Given the description of an element on the screen output the (x, y) to click on. 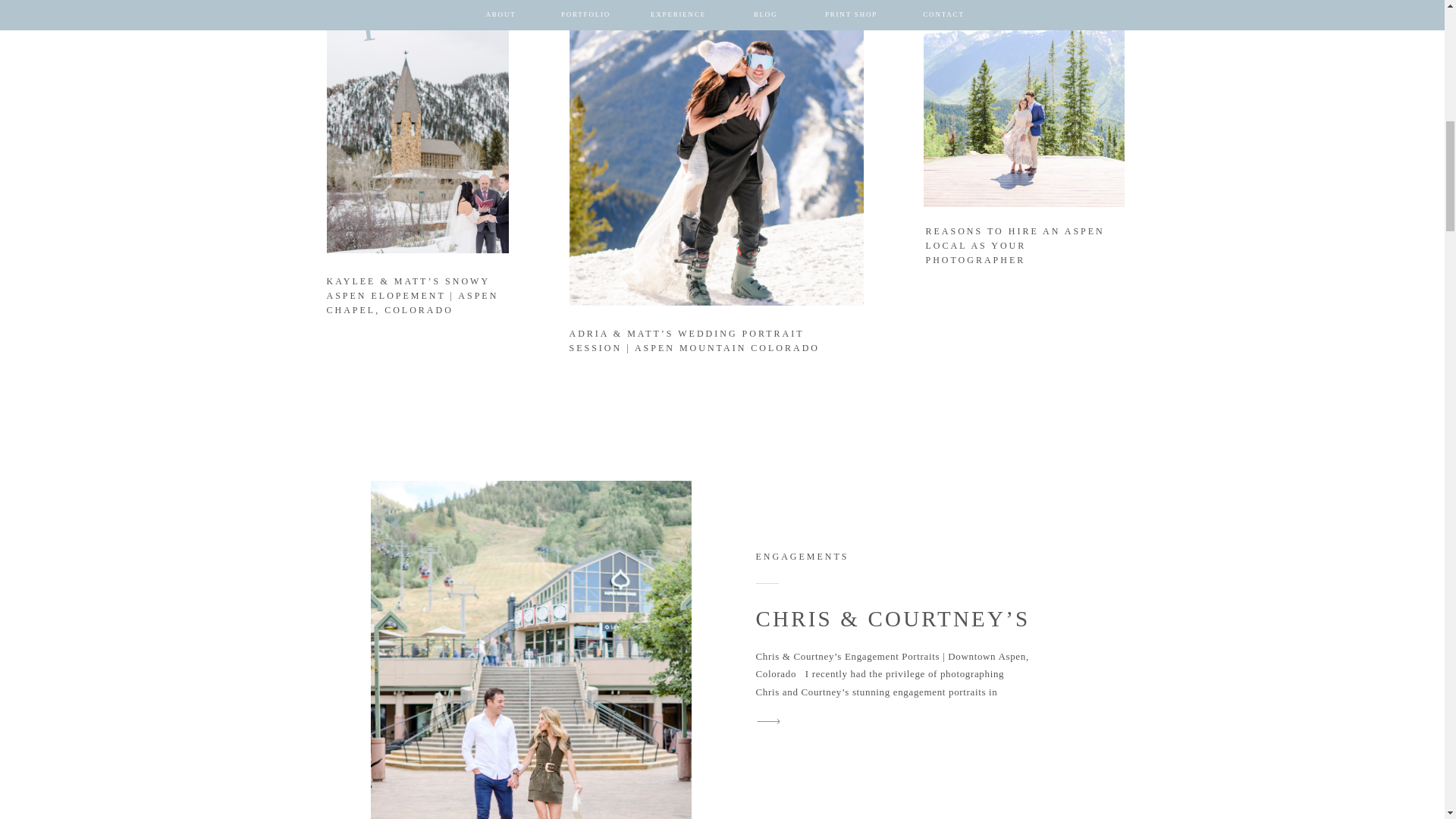
arrow (768, 721)
arrow (1104, 304)
